Given the description of an element on the screen output the (x, y) to click on. 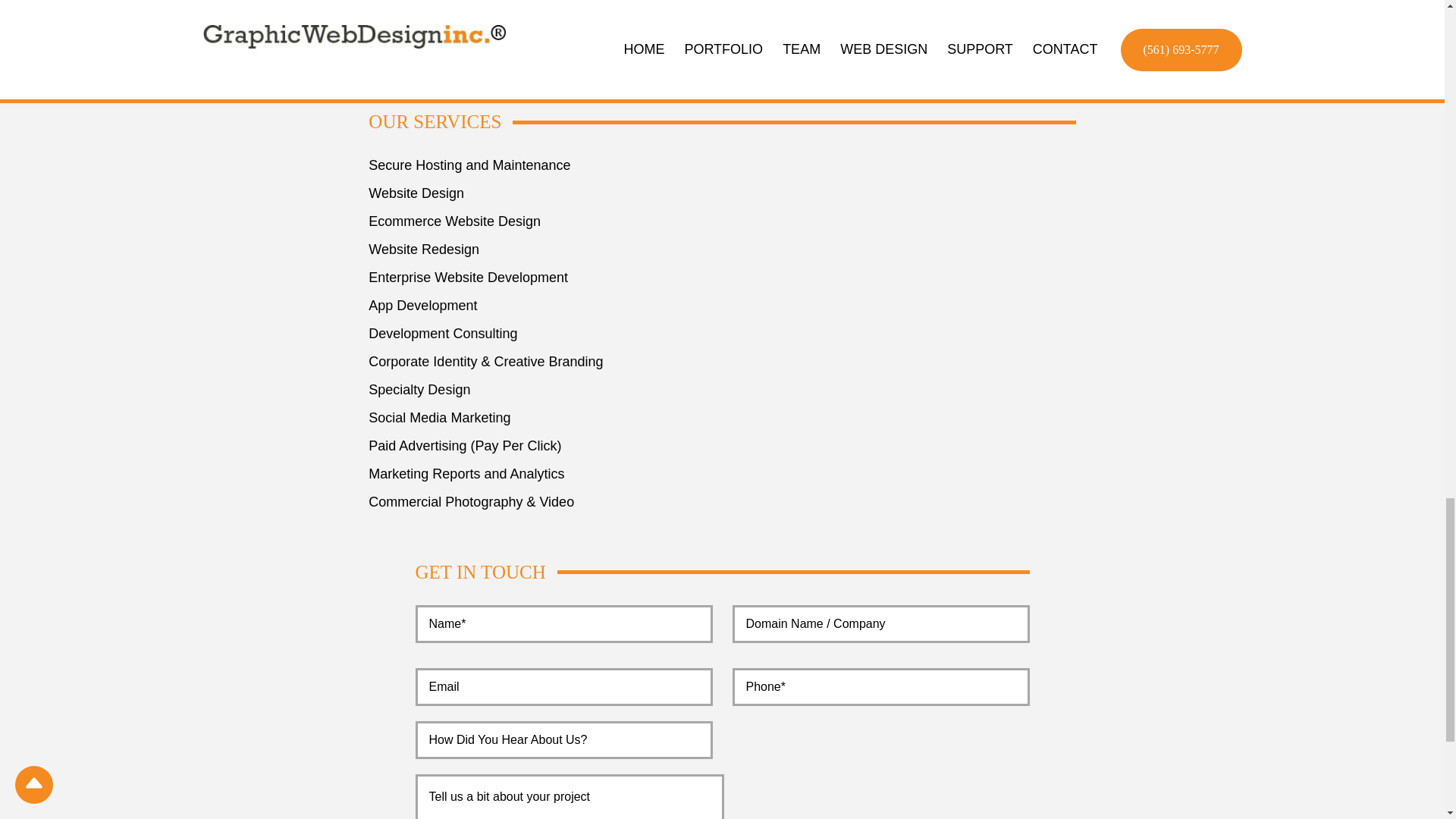
App Development (721, 305)
Website Redesign (721, 249)
Development Consulting (721, 333)
Marketing Reports and Analytics (721, 474)
Social Media Marketing (721, 417)
Ecommerce Website Design (721, 221)
Specialty Design (721, 390)
Secure Hosting and Maintenance (721, 165)
Website Design (721, 193)
Enterprise Website Development (721, 277)
